Given the description of an element on the screen output the (x, y) to click on. 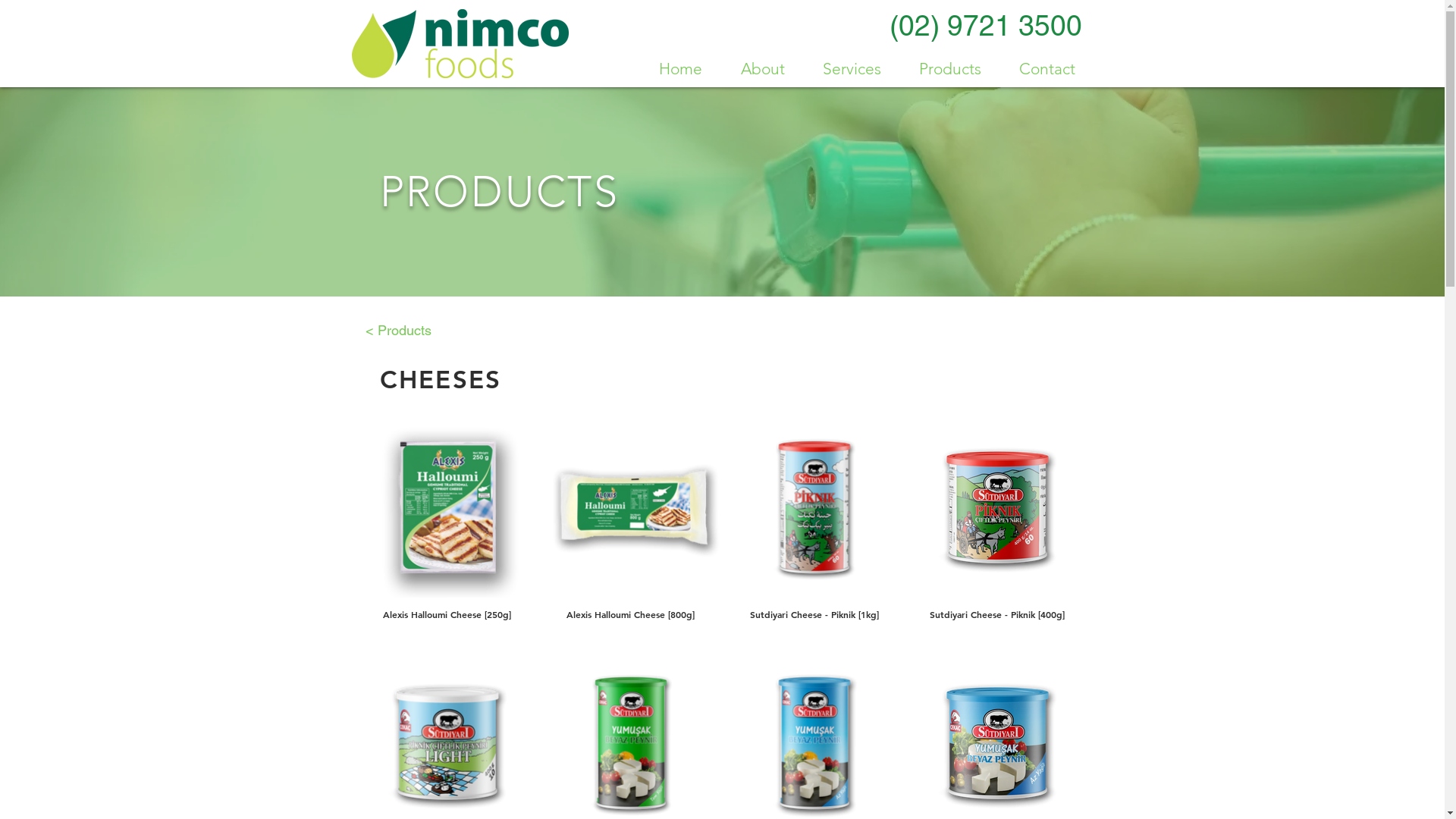
Home Element type: text (680, 68)
< Products Element type: text (398, 330)
Site Search Element type: hover (1011, 282)
Services Element type: text (851, 68)
Products Element type: text (949, 68)
About Element type: text (762, 68)
Contact Element type: text (1046, 68)
